Given the description of an element on the screen output the (x, y) to click on. 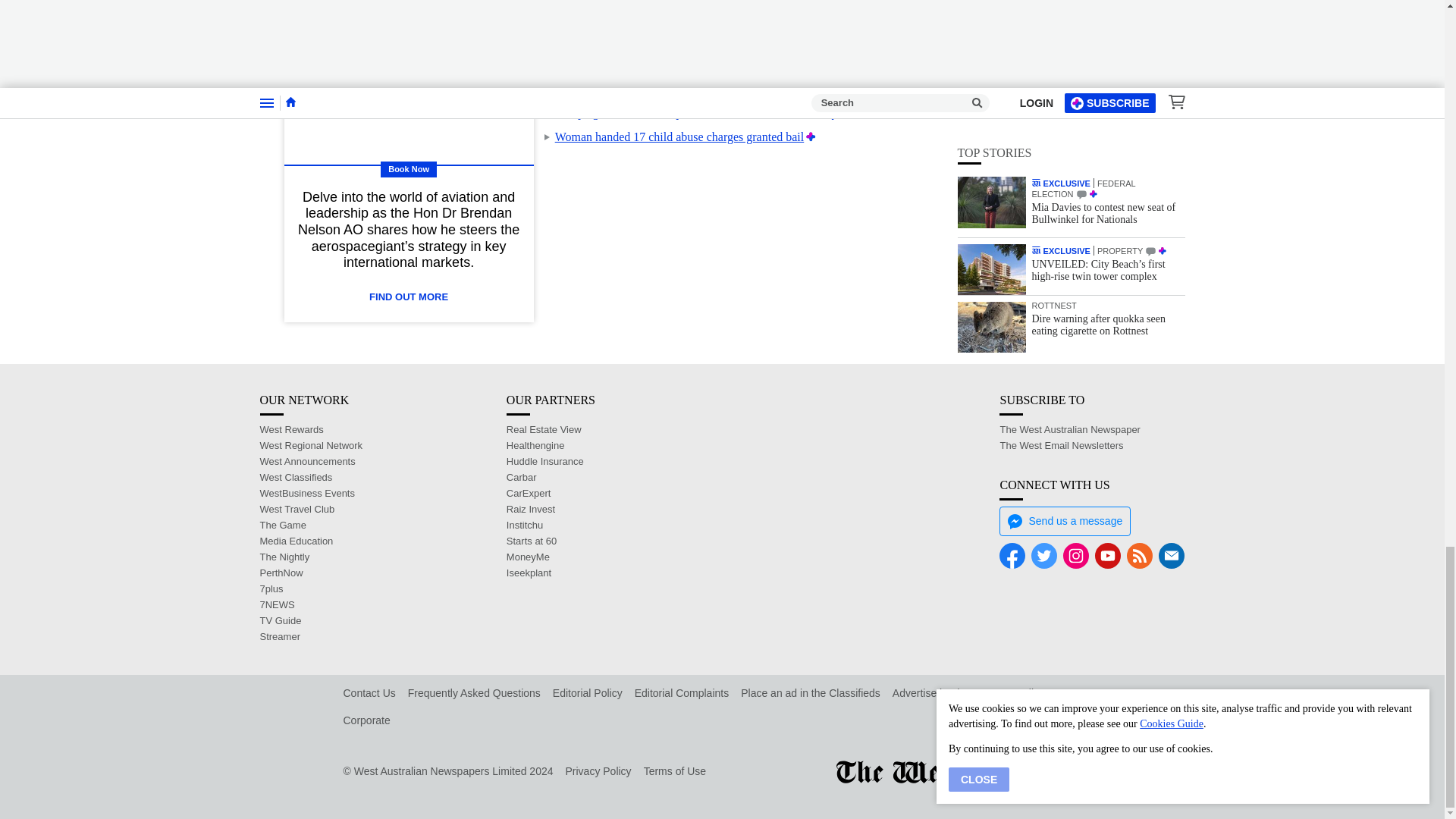
Premium (844, 112)
Premium (766, 63)
Premium (770, 88)
Premium (810, 136)
Premium (837, 39)
Premium (748, 15)
